Given the description of an element on the screen output the (x, y) to click on. 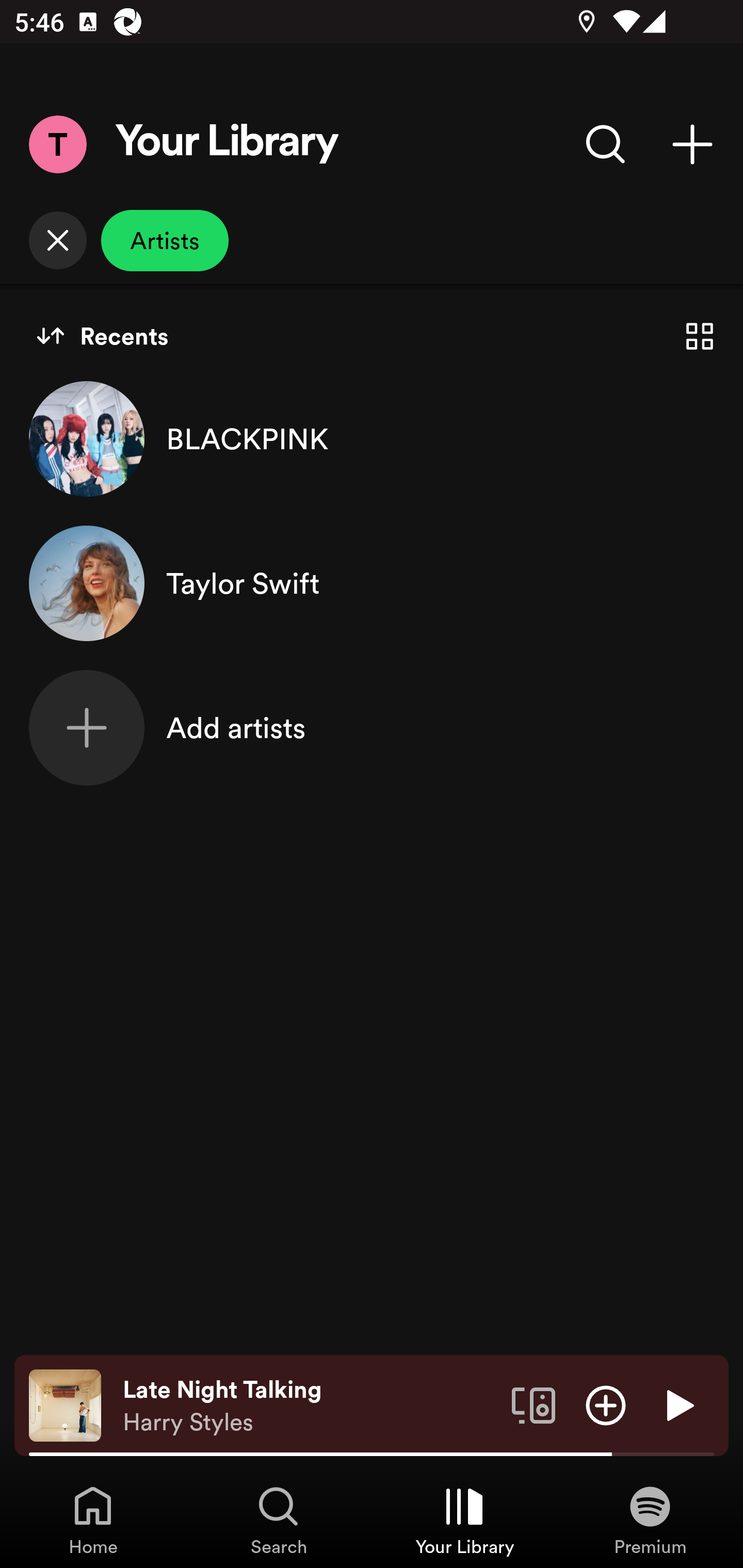
Menu (57, 144)
Search Your Library (605, 144)
Create playlist (692, 144)
Your Library Your Library Heading (226, 144)
Clear Filters (57, 240)
Artists, show only artists. (164, 240)
Recents (101, 336)
Show Grid view (699, 336)
BLACKPINK,  BLACKPINK (371, 439)
Taylor Swift,  Taylor Swift (371, 583)
Add artists,  Add artists (371, 727)
Late Night Talking Harry Styles (309, 1405)
The cover art of the currently playing track (64, 1404)
Connect to a device. Opens the devices menu (533, 1404)
Add item (605, 1404)
Play (677, 1404)
Home, Tab 1 of 4 Home Home (92, 1519)
Search, Tab 2 of 4 Search Search (278, 1519)
Your Library, Tab 3 of 4 Your Library Your Library (464, 1519)
Premium, Tab 4 of 4 Premium Premium (650, 1519)
